Given the description of an element on the screen output the (x, y) to click on. 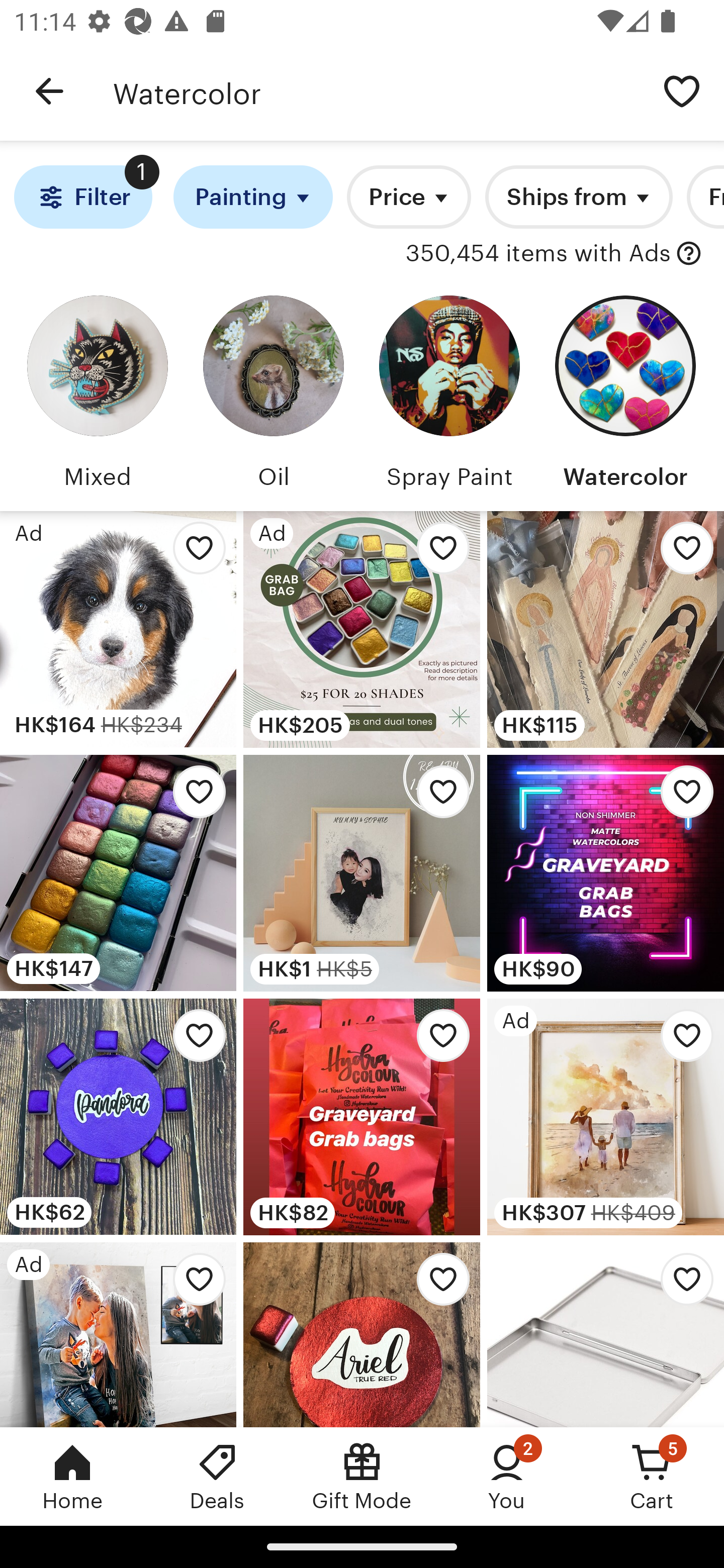
Navigate up (49, 91)
Save search (681, 90)
Watercolor (375, 91)
Filter (82, 197)
Painting (253, 197)
Price (408, 197)
Ships from (578, 197)
350,454 items with Ads (538, 253)
with Ads (688, 253)
Mixed (97, 395)
Oil (273, 395)
Spray Paint (449, 395)
Watercolor (625, 395)
Add Watercolor Bookmarks to favorites (681, 553)
Deals (216, 1475)
Gift Mode (361, 1475)
You, 2 new notifications You (506, 1475)
Cart, 5 new notifications Cart (651, 1475)
